Given the description of an element on the screen output the (x, y) to click on. 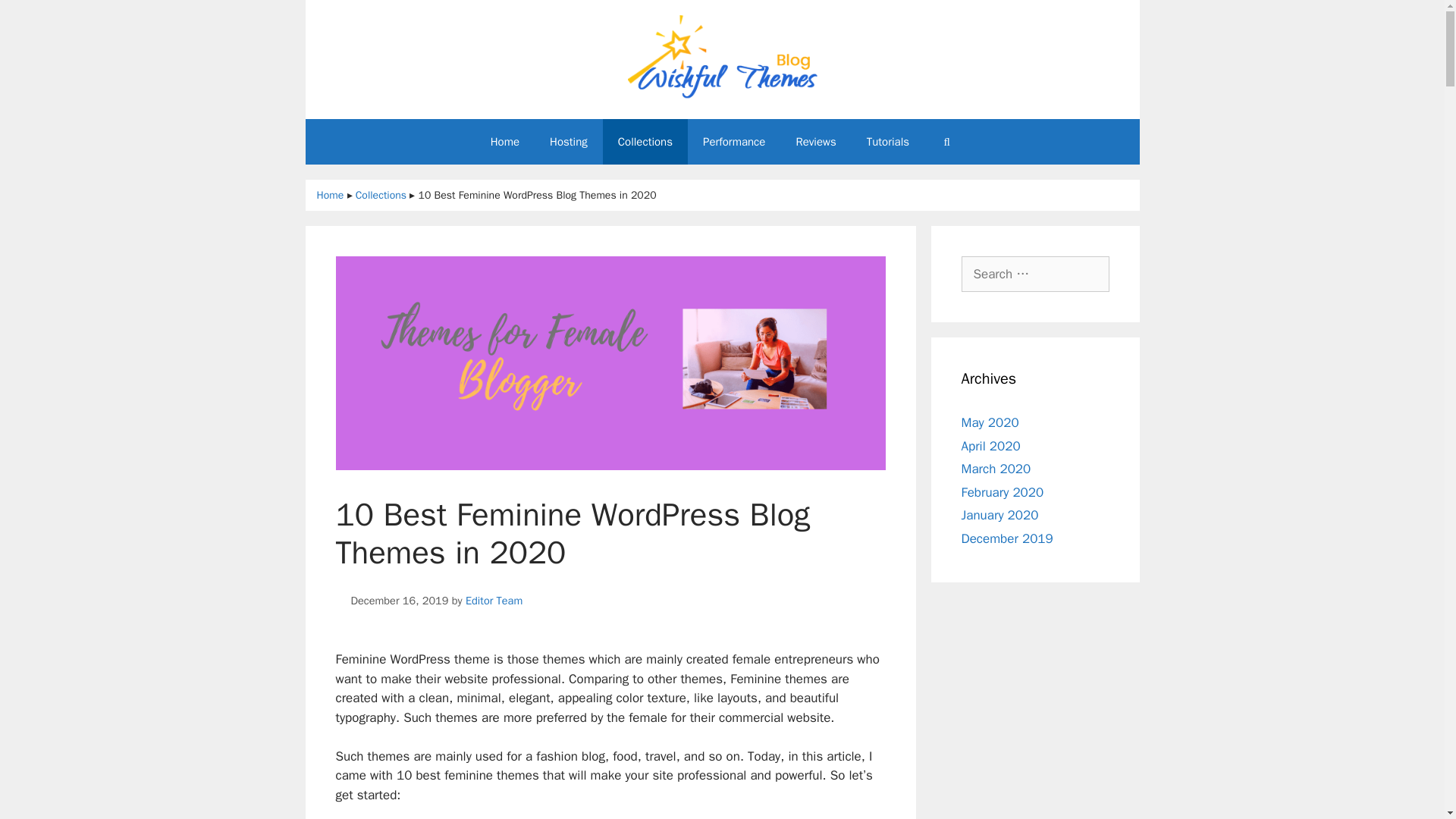
Home (323, 195)
Collections (380, 195)
February 2020 (1001, 492)
Collections (644, 141)
Performance (733, 141)
December 2019 (1006, 538)
Reviews (815, 141)
January 2020 (999, 514)
Home (505, 141)
April 2020 (990, 446)
May 2020 (989, 422)
Tutorials (887, 141)
March 2020 (995, 468)
Editor Team (493, 600)
View all posts by Editor Team (493, 600)
